Given the description of an element on the screen output the (x, y) to click on. 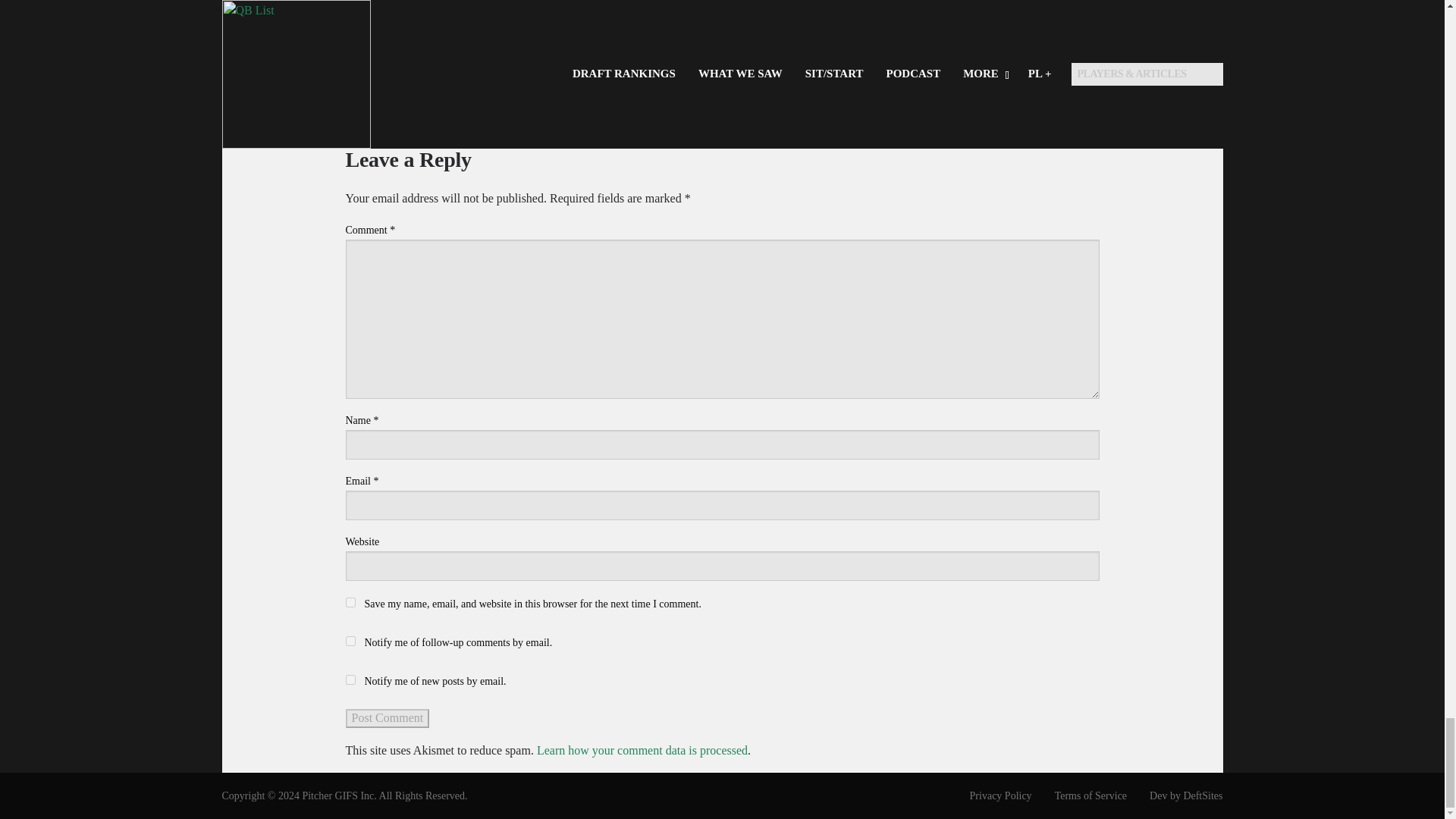
Post Comment (387, 718)
subscribe (350, 641)
Learn how your comment data is processed (642, 749)
yes (350, 602)
Privacy Policy (989, 795)
Post Comment (387, 718)
subscribe (350, 679)
Terms of Service (1079, 795)
